Given the description of an element on the screen output the (x, y) to click on. 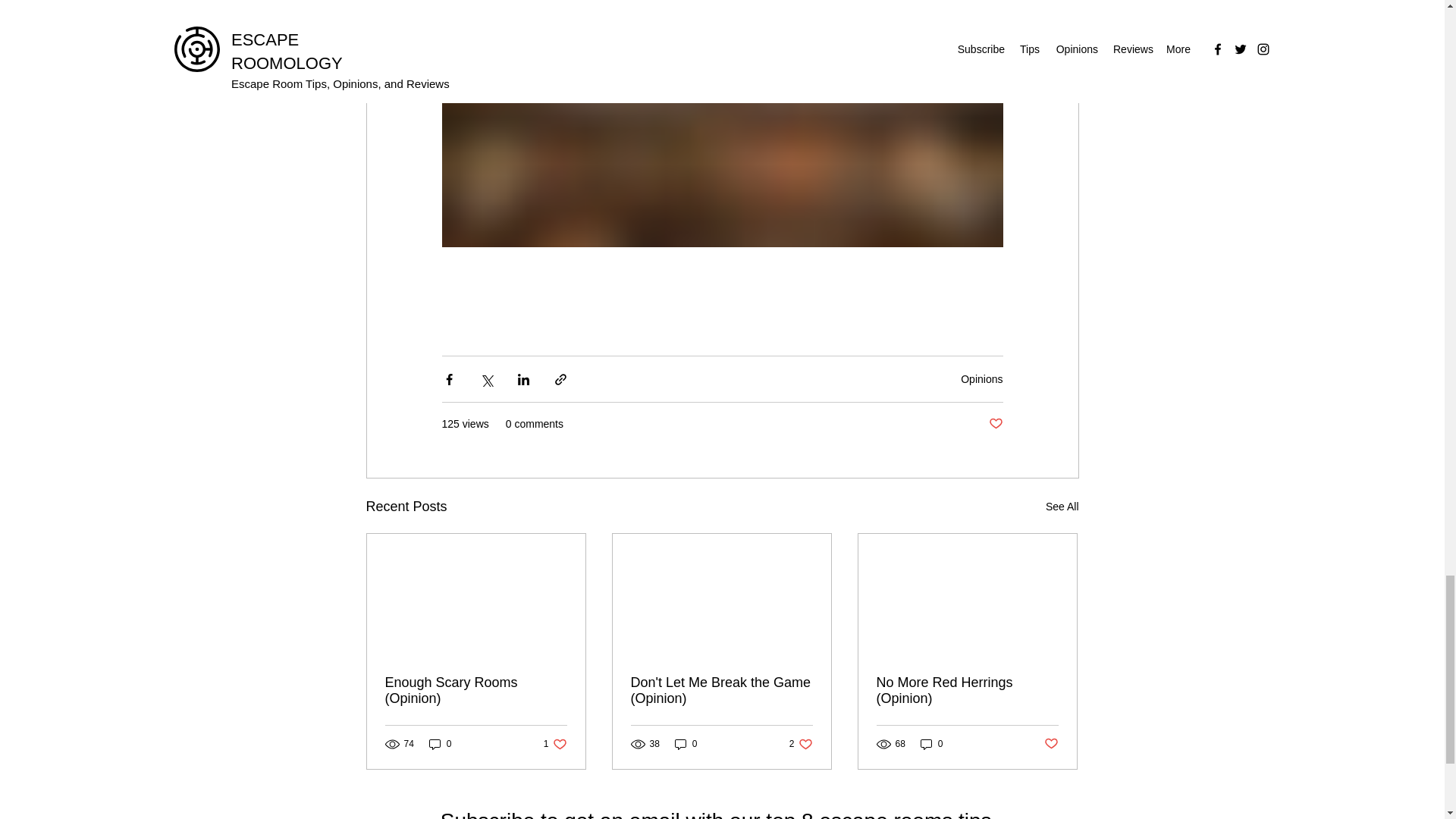
0 (800, 744)
See All (555, 744)
Opinions (685, 744)
0 (1061, 506)
0 (981, 378)
Post not marked as liked (931, 744)
Post not marked as liked (440, 744)
